Given the description of an element on the screen output the (x, y) to click on. 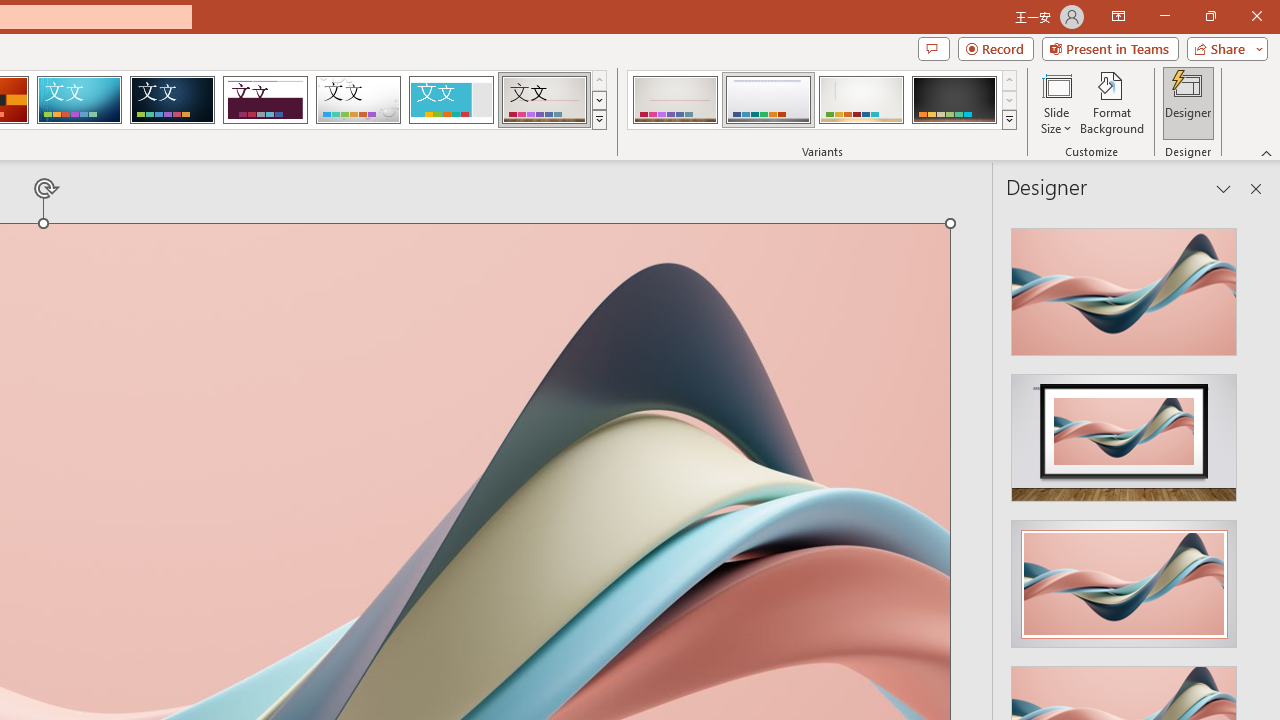
Recommended Design: Design Idea (1124, 286)
Variants (1009, 120)
Gallery Variant 1 (674, 100)
Gallery Variant 3 (861, 100)
AutomationID: ThemeVariantsGallery (822, 99)
Gallery Variant 4 (953, 100)
